Given the description of an element on the screen output the (x, y) to click on. 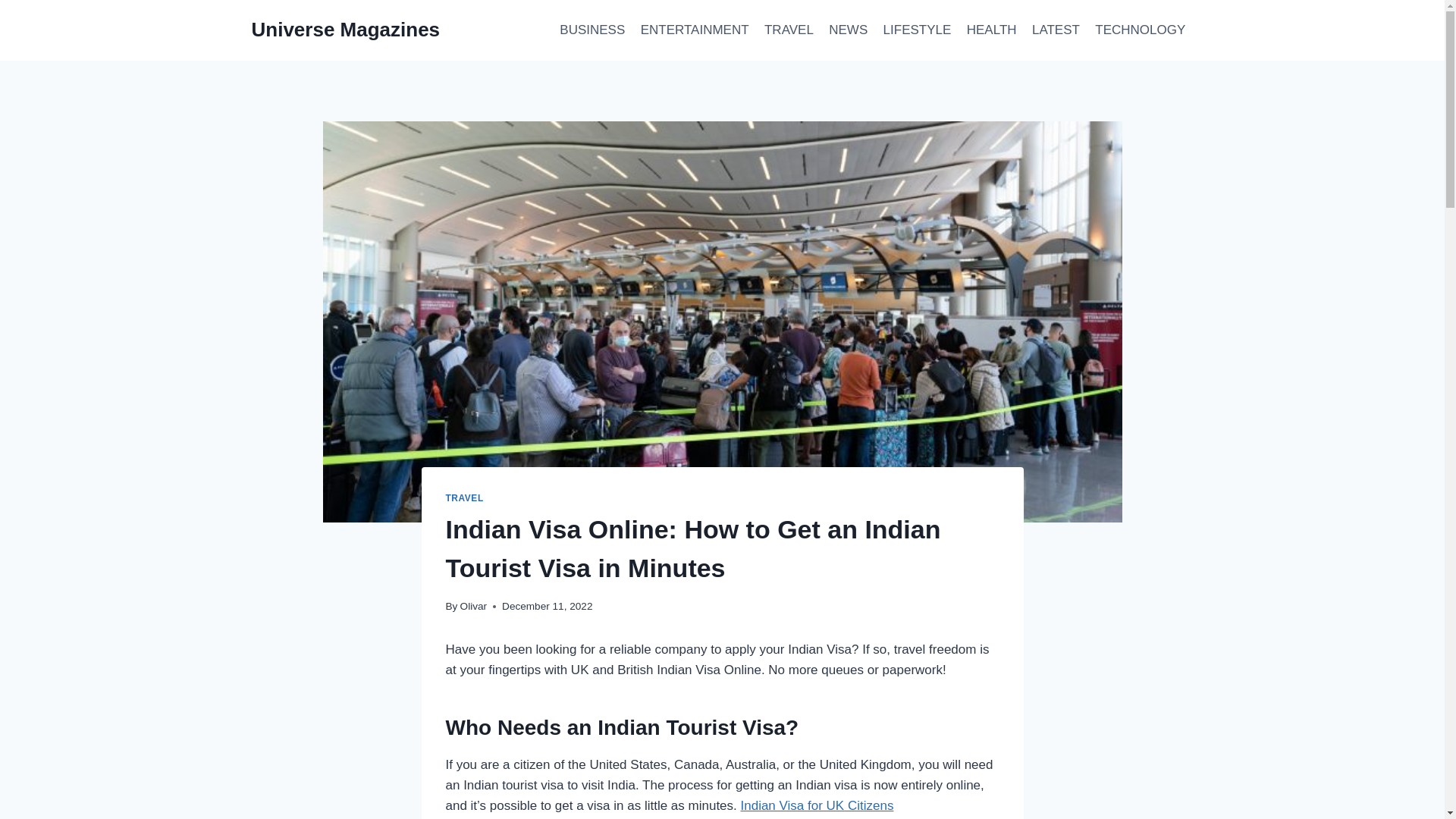
NEWS (848, 30)
LIFESTYLE (916, 30)
TECHNOLOGY (1139, 30)
TRAVEL (464, 498)
HEALTH (992, 30)
Olivar (473, 605)
ENTERTAINMENT (693, 30)
Universe Magazines (346, 29)
TRAVEL (789, 30)
BUSINESS (591, 30)
